Given the description of an element on the screen output the (x, y) to click on. 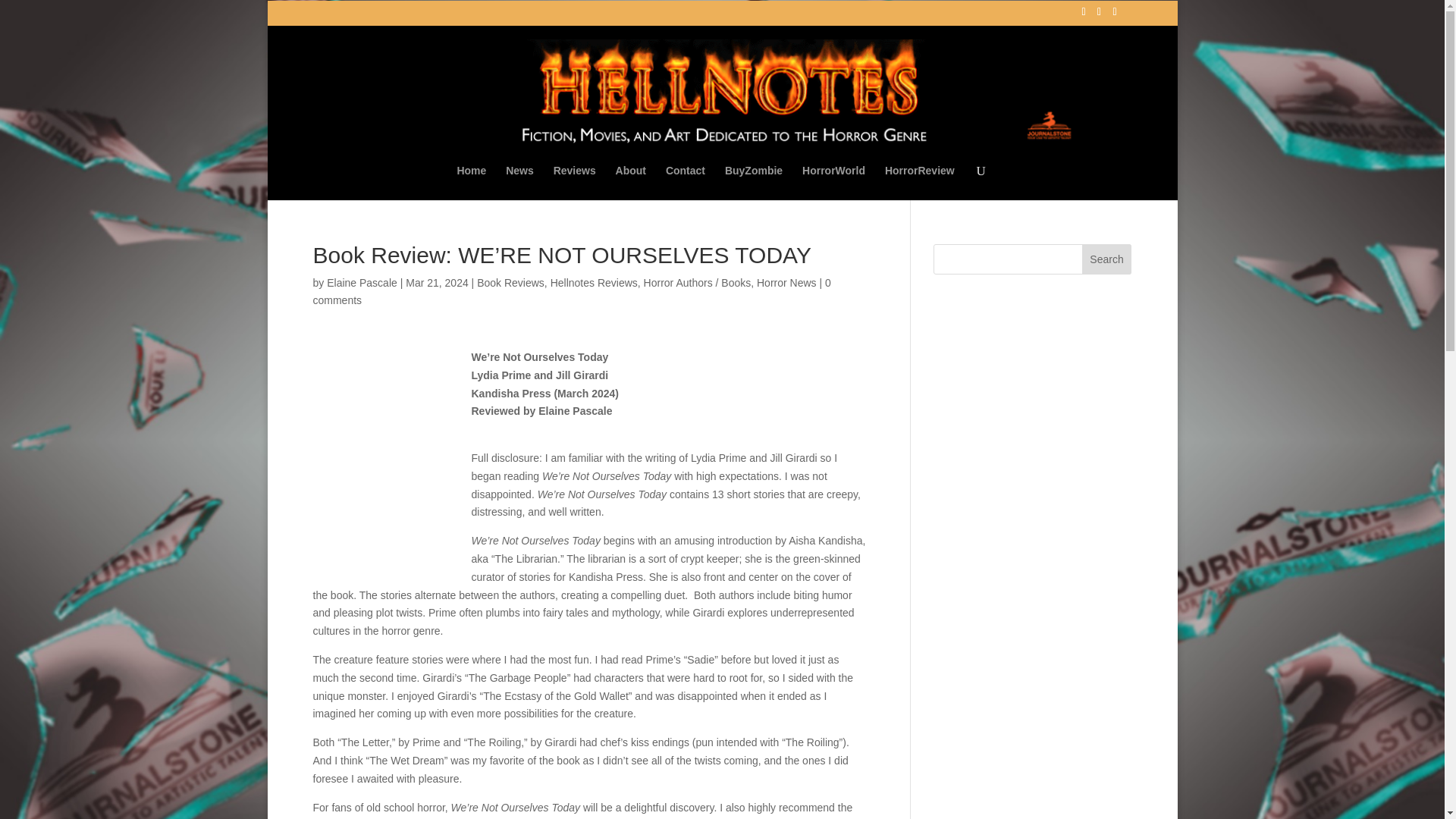
Search (1106, 259)
Posts by Elaine Pascale (361, 282)
HorrorWorld (833, 182)
Elaine Pascale (361, 282)
HorrorReview (920, 182)
Reviews (574, 182)
Horror News (786, 282)
0 comments (571, 291)
Search (1106, 259)
BuyZombie (754, 182)
